Given the description of an element on the screen output the (x, y) to click on. 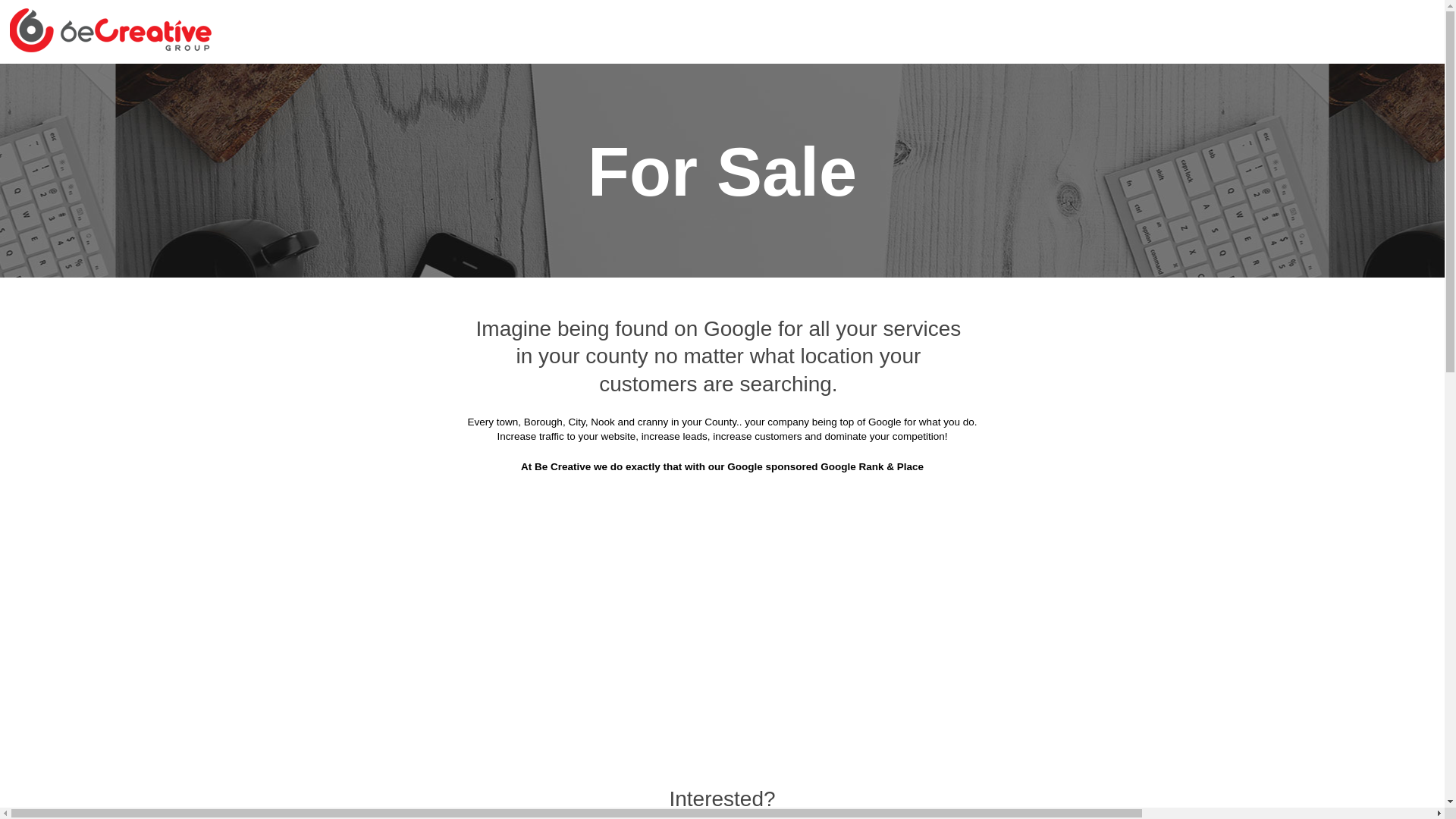
Aggregate Suppliers Devon (660, 83)
Aggregate Suppliers Hatherleigh Devon (409, 346)
Aggregate Suppliers Barnstaple Devon (395, 121)
Aggregate Suppliers Helston Cornwall (850, 346)
Aggregate Suppliers Chudleigh Devon (622, 234)
Aggregate Suppliers Camelford Cornwall (390, 234)
Aggregate Suppliers Bovey Tracey Devon (1070, 121)
Aggregate Suppliers Camborne Cornwall (1072, 196)
Aggregate Suppliers Bodmin Cornwall (837, 121)
Aggregate Suppliers Axminster Devon (1080, 83)
Aggregate Suppliers Chulmleigh Devon (850, 234)
Aggregate Suppliers Bideford Devon (617, 121)
Aggregate Suppliers Ilfracombe Devon (625, 383)
Aggregate Suppliers Great Torrington Devon (1062, 309)
Aggregate Suppliers Cornwall (488, 83)
